Given the description of an element on the screen output the (x, y) to click on. 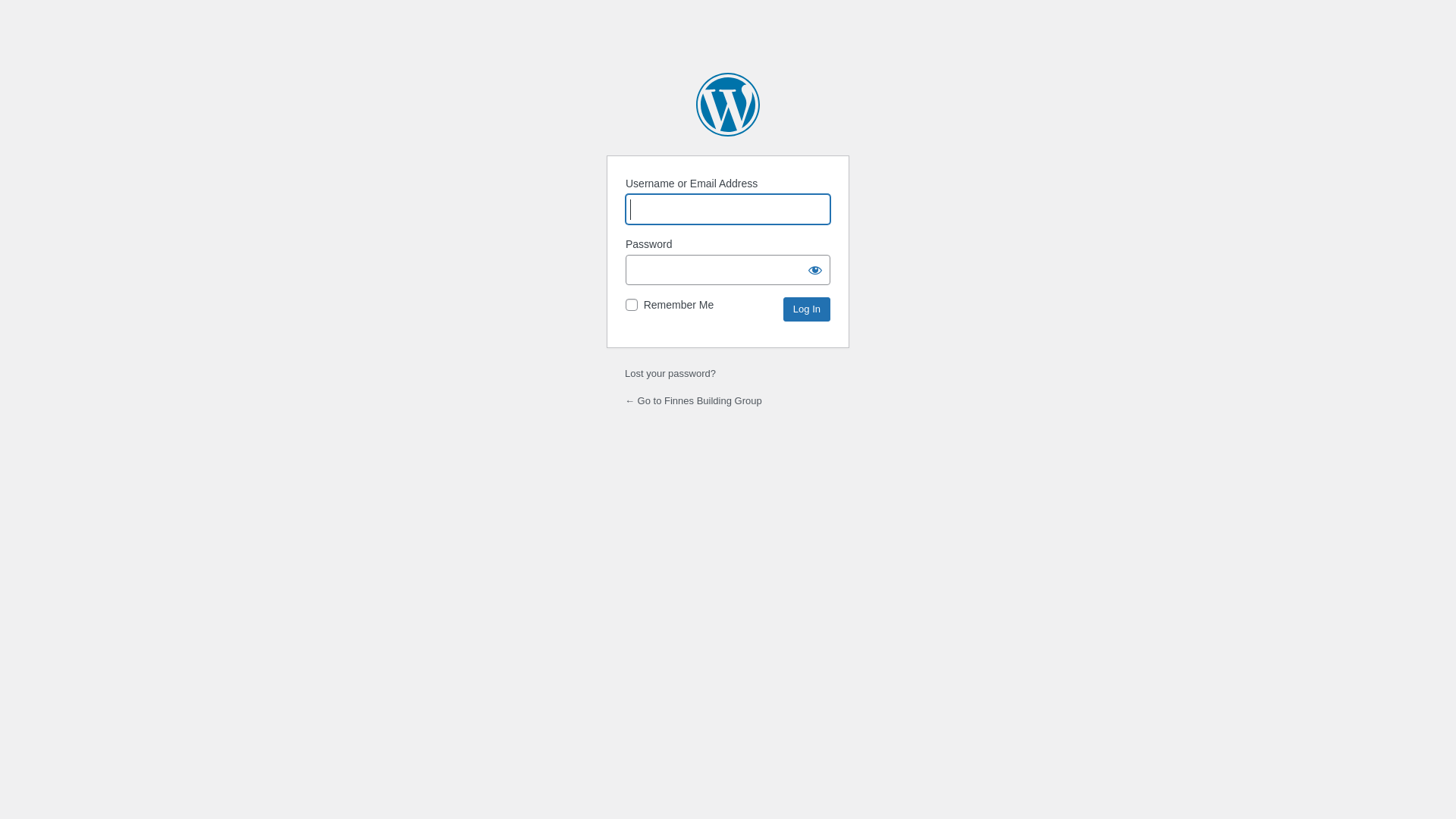
Log In Element type: text (806, 309)
Lost your password? Element type: text (669, 373)
Finnes Building Group Element type: text (727, 104)
